Given the description of an element on the screen output the (x, y) to click on. 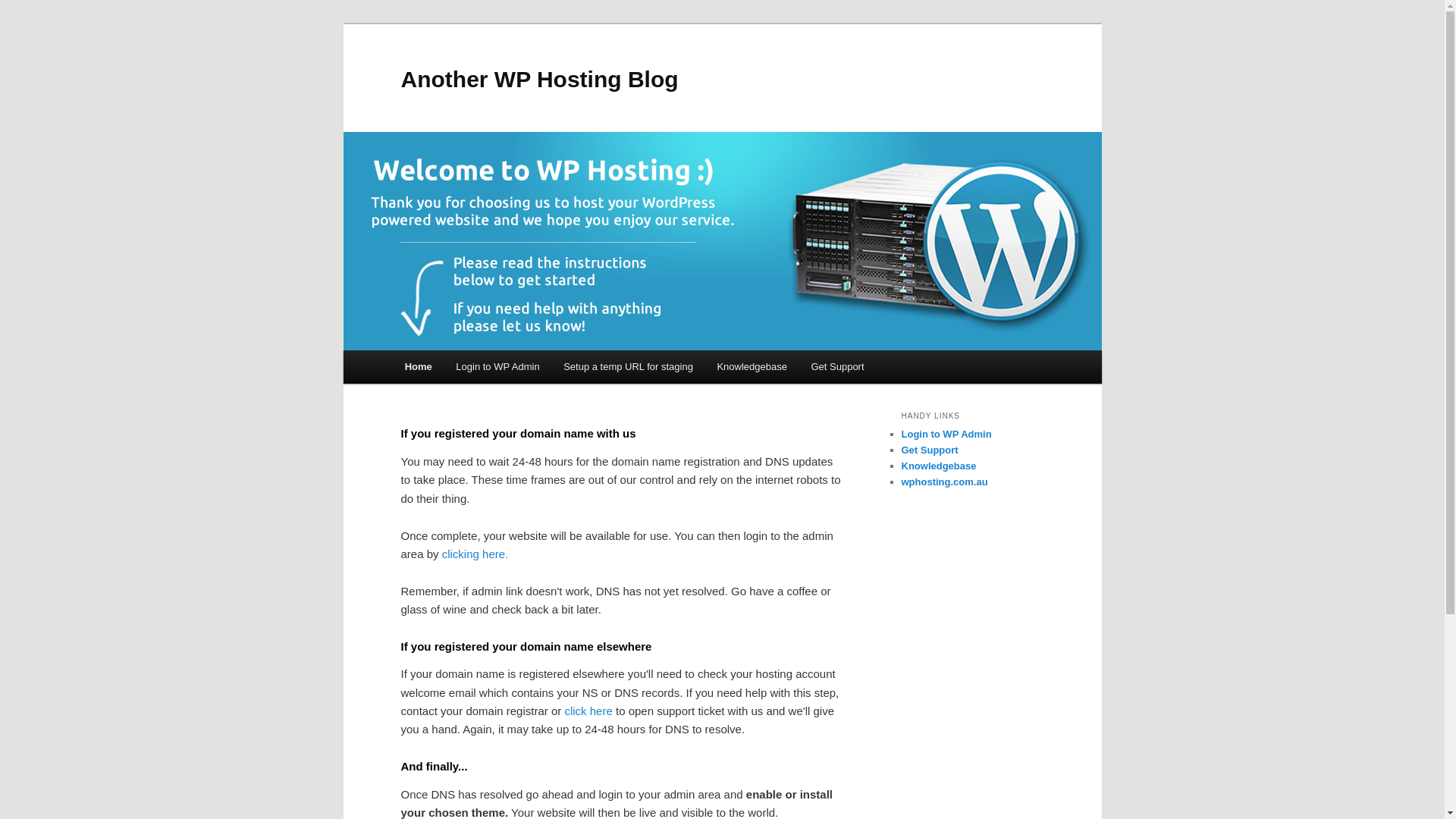
wphosting.com.au Element type: text (943, 481)
Login to WP Admin Element type: text (498, 366)
Home Element type: text (418, 366)
Get Support Element type: text (928, 449)
clicking here. Element type: text (475, 553)
Get Support Element type: text (837, 366)
click here Element type: text (587, 710)
Another WP Hosting Blog Element type: text (538, 78)
Knowledgebase Element type: text (937, 465)
Login to WP Admin Element type: text (945, 433)
Knowledgebase Element type: text (752, 366)
Setup a temp URL for staging Element type: text (627, 366)
